Given the description of an element on the screen output the (x, y) to click on. 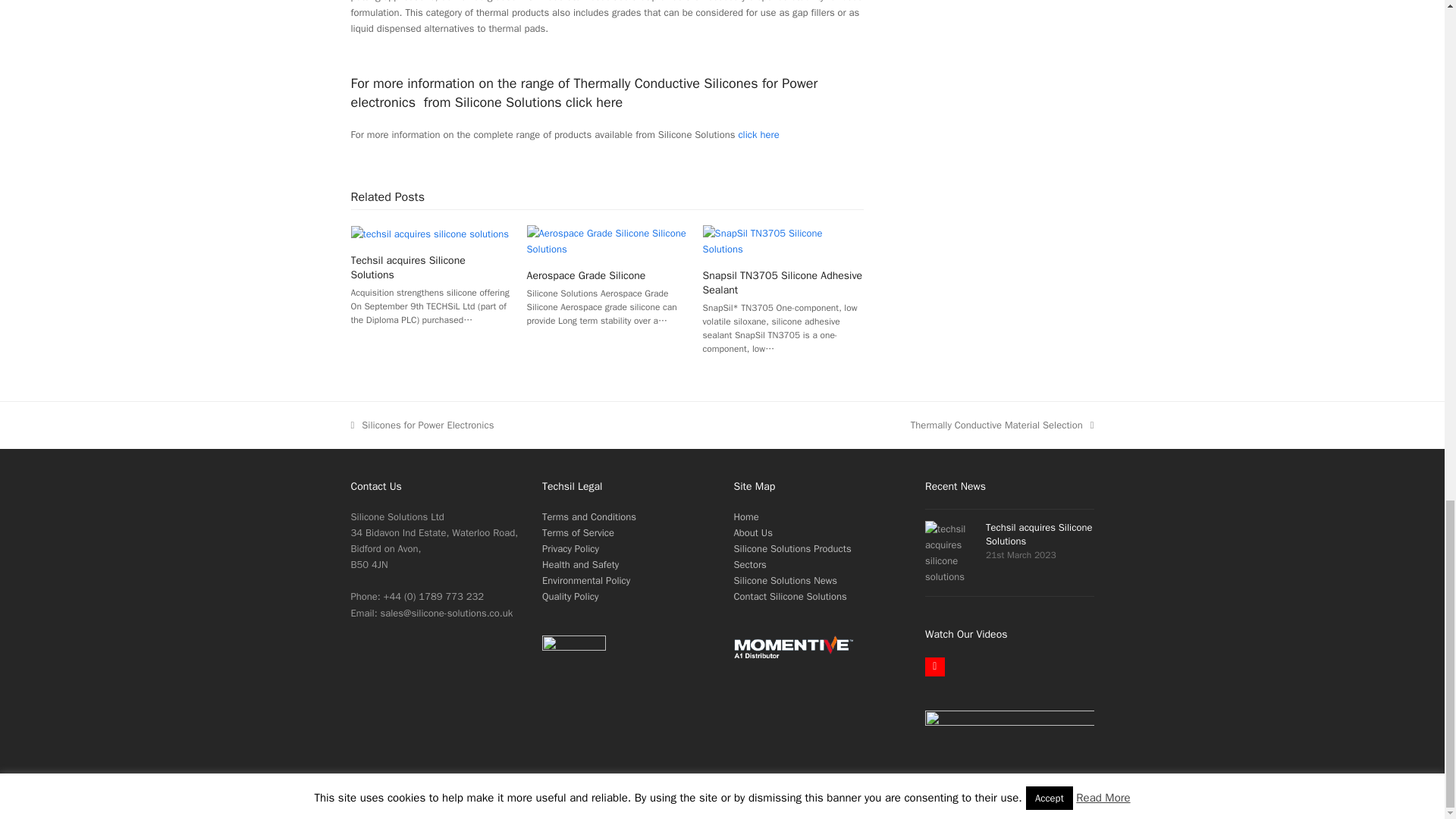
Snapsil TN3705 Silicone Adhesive Sealant (783, 239)
YouTube (934, 667)
Techsil acquires Silicone Solutions (429, 232)
Aerospace Grade Silicone (607, 239)
